Given the description of an element on the screen output the (x, y) to click on. 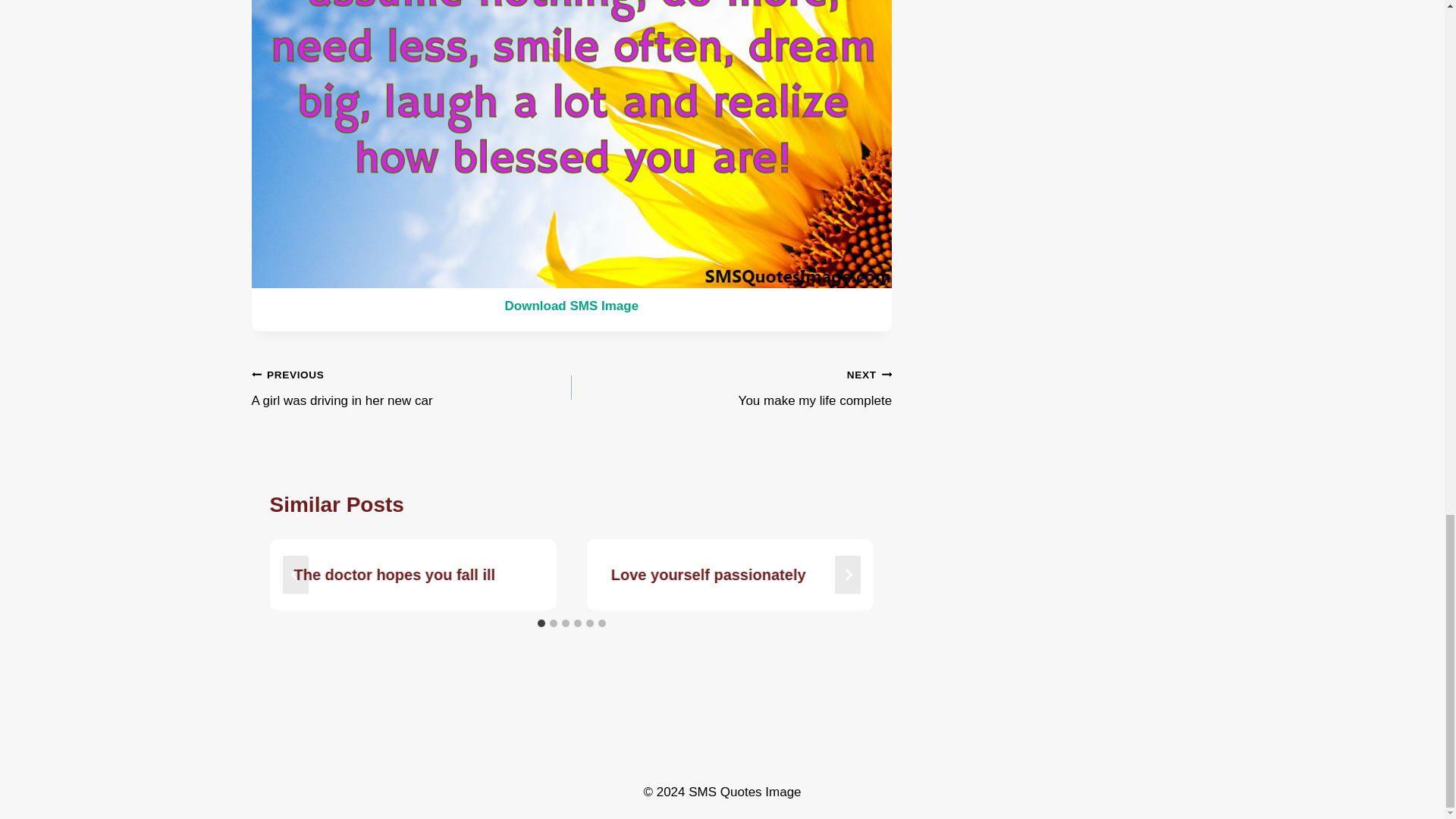
Download SMS Image (731, 387)
